Given the description of an element on the screen output the (x, y) to click on. 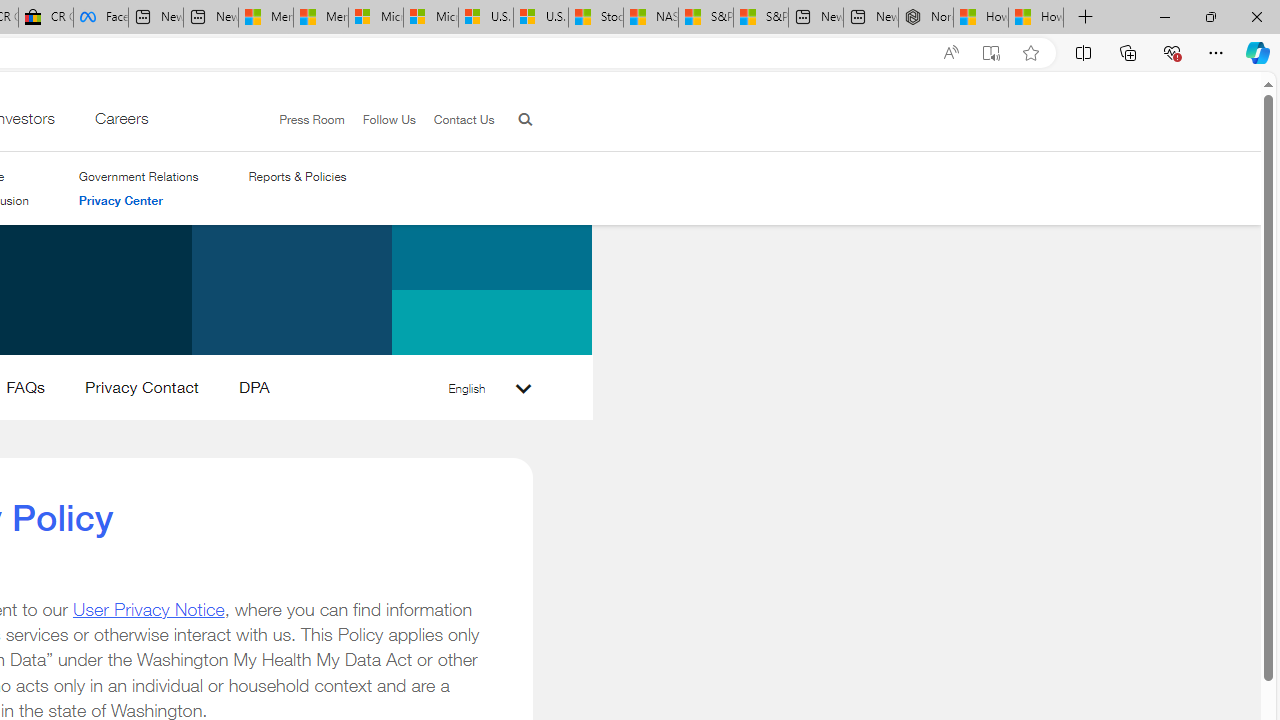
User Privacy Notice (148, 608)
Government Relations (138, 176)
Privacy Center (120, 200)
Reports & Policies (297, 176)
Facebook (100, 17)
Privacy Center (138, 201)
Enter Immersive Reader (F9) (991, 53)
Reports & Policies (297, 176)
